Given the description of an element on the screen output the (x, y) to click on. 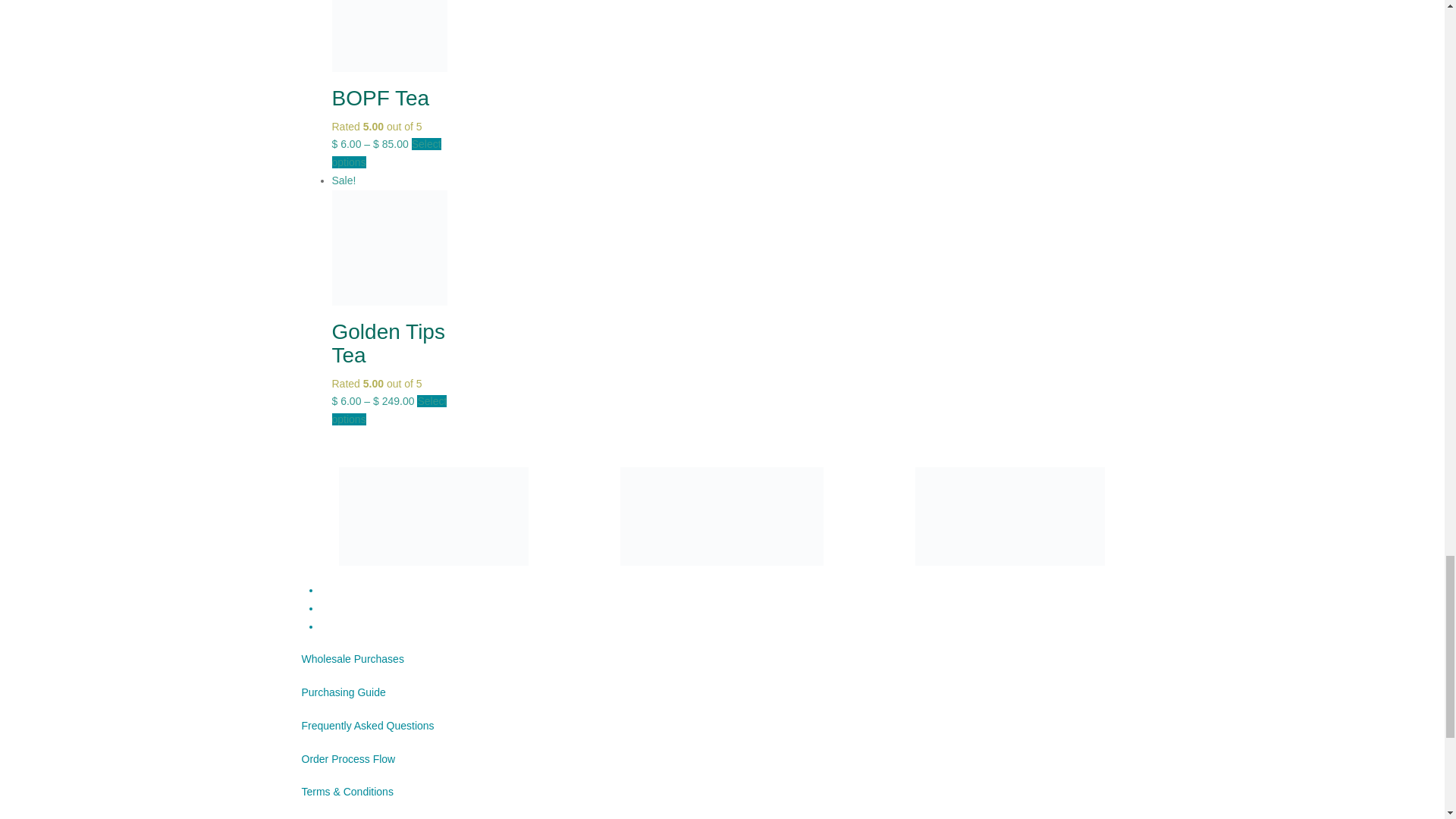
Select options (386, 153)
Select options (388, 409)
